Given the description of an element on the screen output the (x, y) to click on. 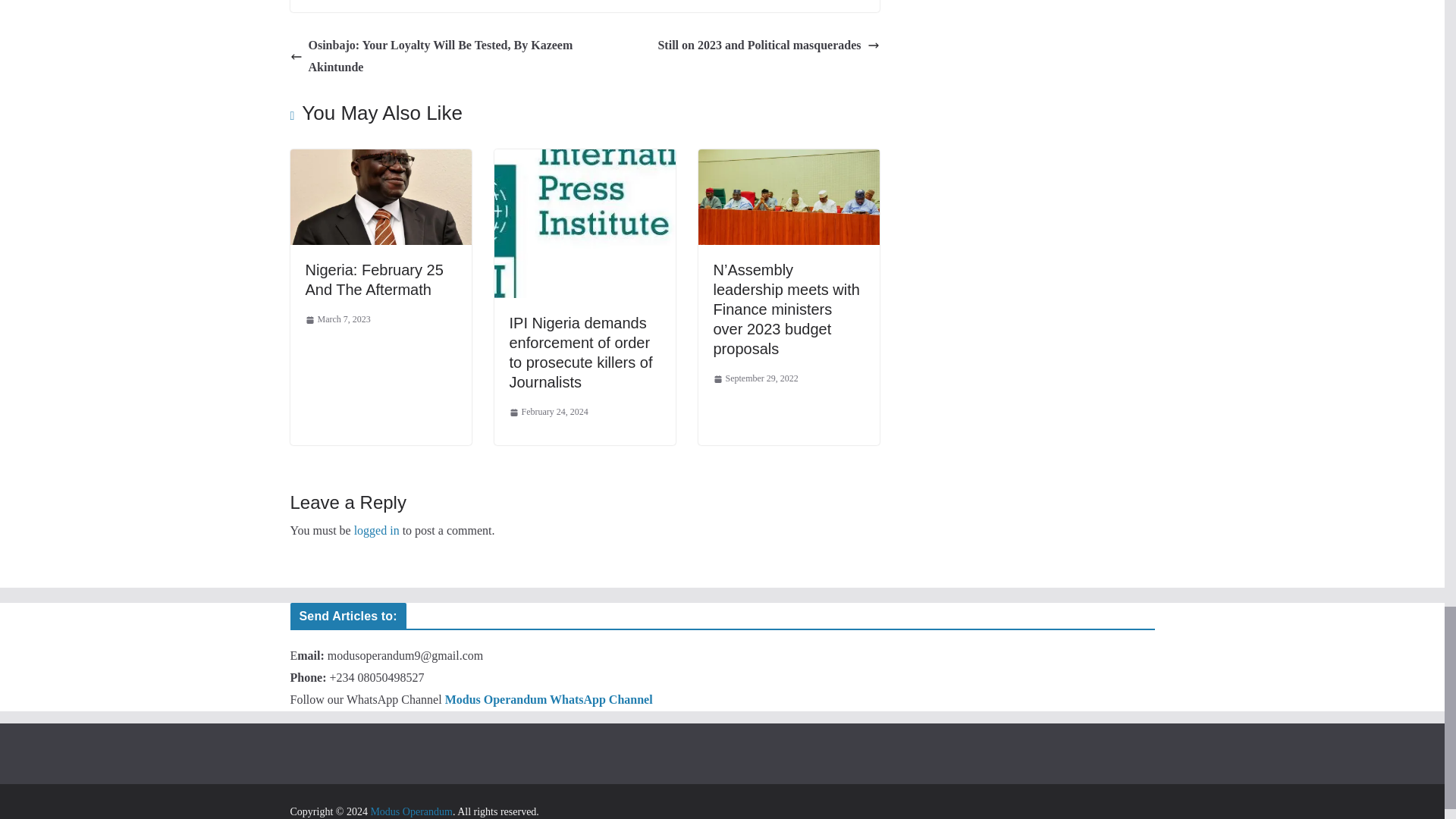
March 7, 2023 (336, 320)
Nigeria: February 25 And The Aftermath (373, 279)
Still on 2023 and Political masquerades (768, 45)
February 24, 2024 (548, 412)
Osinbajo: Your Loyalty Will Be Tested, By Kazeem Akintunde (432, 56)
